Given the description of an element on the screen output the (x, y) to click on. 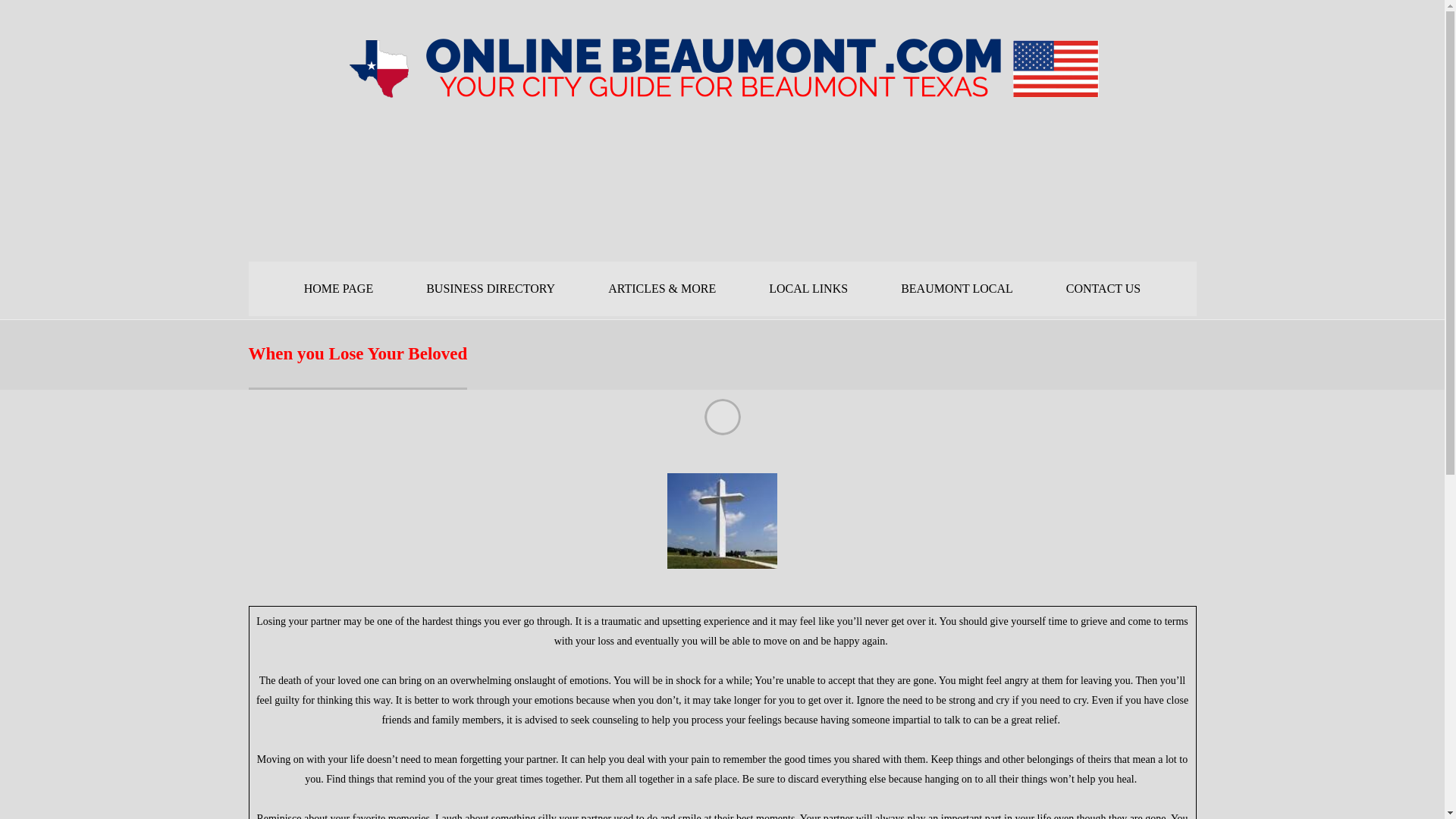
LOCAL LINKS (808, 288)
BUSINESS DIRECTORY (489, 288)
HOME PAGE (338, 288)
CONTACT US (1103, 288)
BEAUMONT LOCAL (957, 288)
Online Beaumont.com (721, 92)
